Given the description of an element on the screen output the (x, y) to click on. 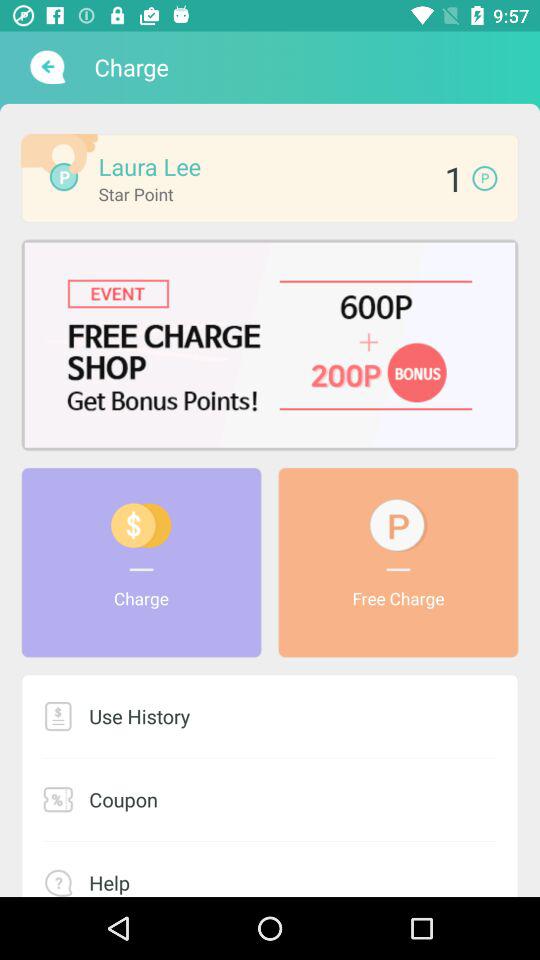
press the item next to the charge icon (45, 67)
